Given the description of an element on the screen output the (x, y) to click on. 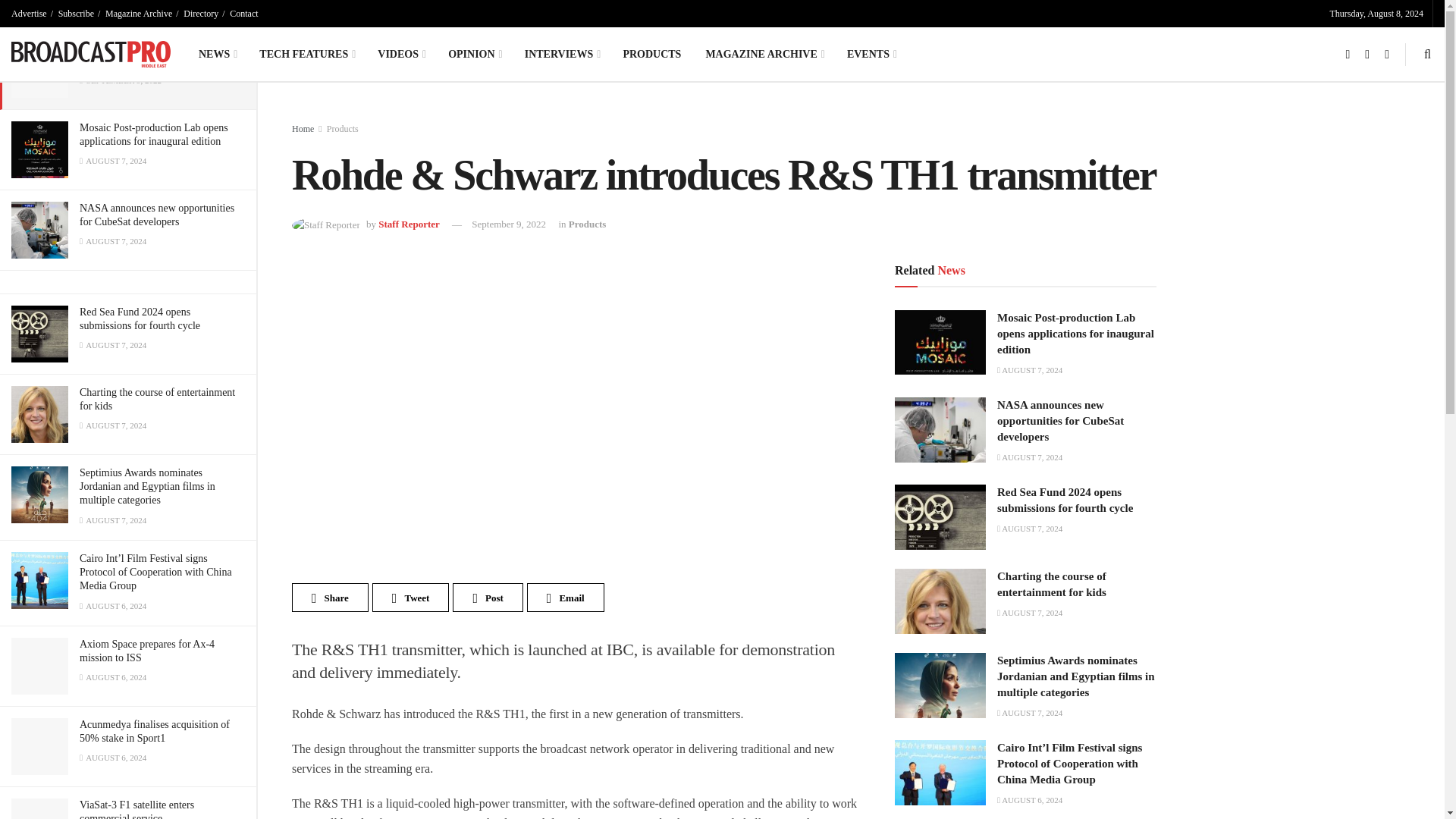
Subscribe (76, 13)
Red Sea Fund 2024 opens submissions for fourth cycle (140, 318)
Contact (243, 13)
NASA announces new opportunities for CubeSat developers (157, 214)
Axiom Space prepares for Ax-4 mission to ISS (147, 650)
ViaSat-3 F1 satellite enters commercial service (136, 809)
Charting the course of entertainment for kids (157, 398)
Magazine Archive (137, 13)
Advertise (28, 13)
Directory (200, 13)
